Given the description of an element on the screen output the (x, y) to click on. 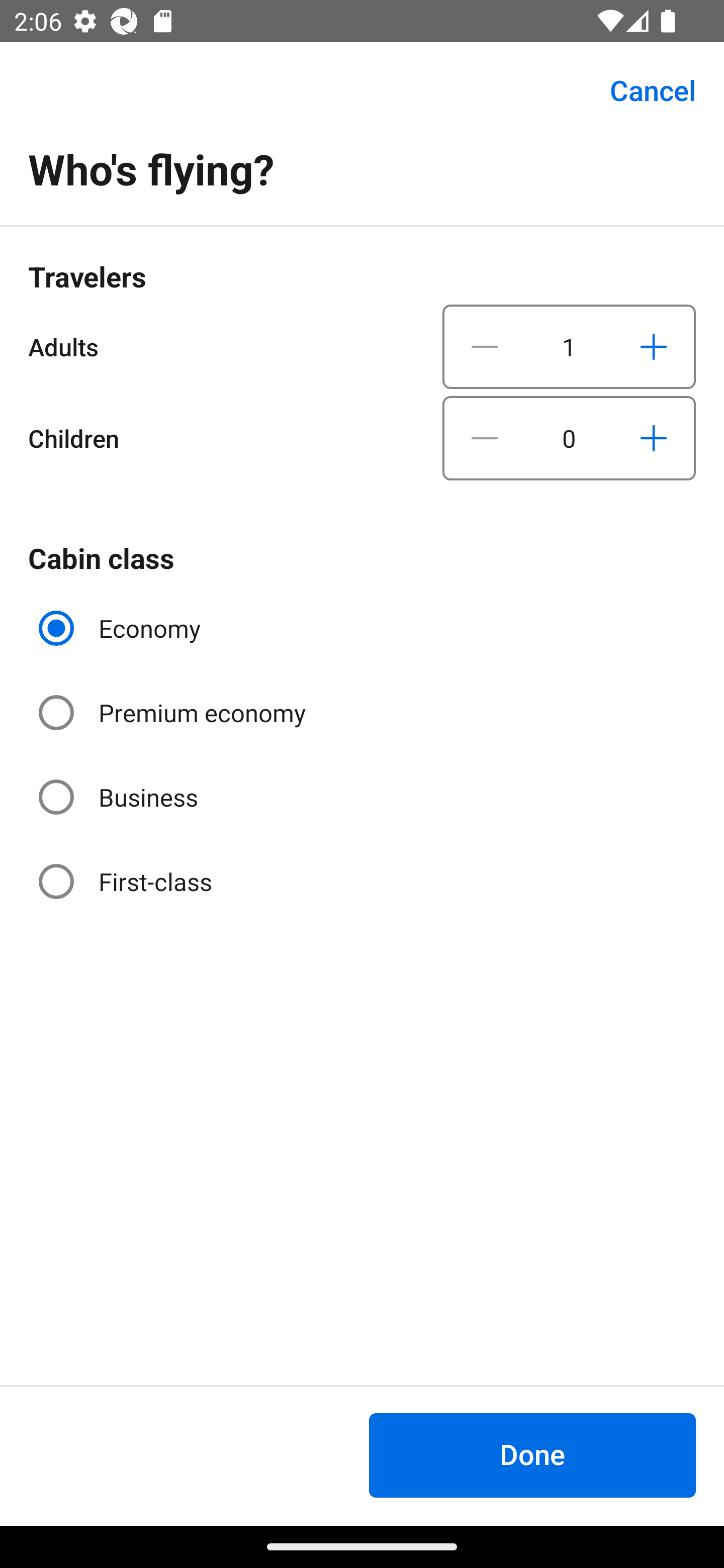
Cancel (641, 90)
Decrease (484, 346)
Increase (653, 346)
Decrease (484, 437)
Increase (653, 437)
Economy (121, 628)
Premium economy (174, 712)
Business (120, 796)
First-class (126, 880)
Done (532, 1454)
